Given the description of an element on the screen output the (x, y) to click on. 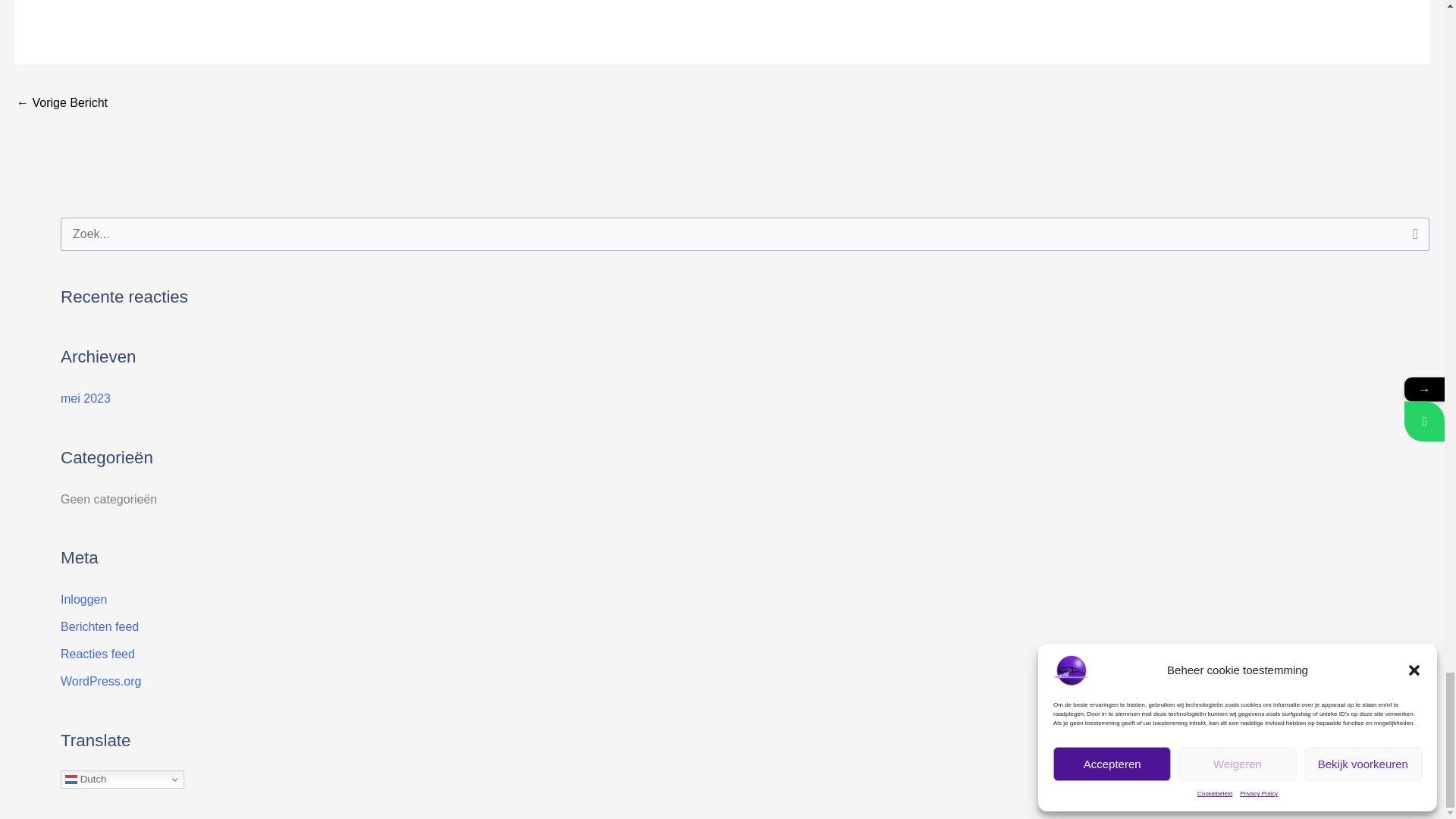
Inloggen (83, 599)
mei 2023 (85, 398)
WordPress.org (101, 680)
Berichten feed (99, 626)
How Do I Withdraw My Eye Of Horus Megaways Winnings Online (61, 103)
Reacties feed (98, 653)
